Given the description of an element on the screen output the (x, y) to click on. 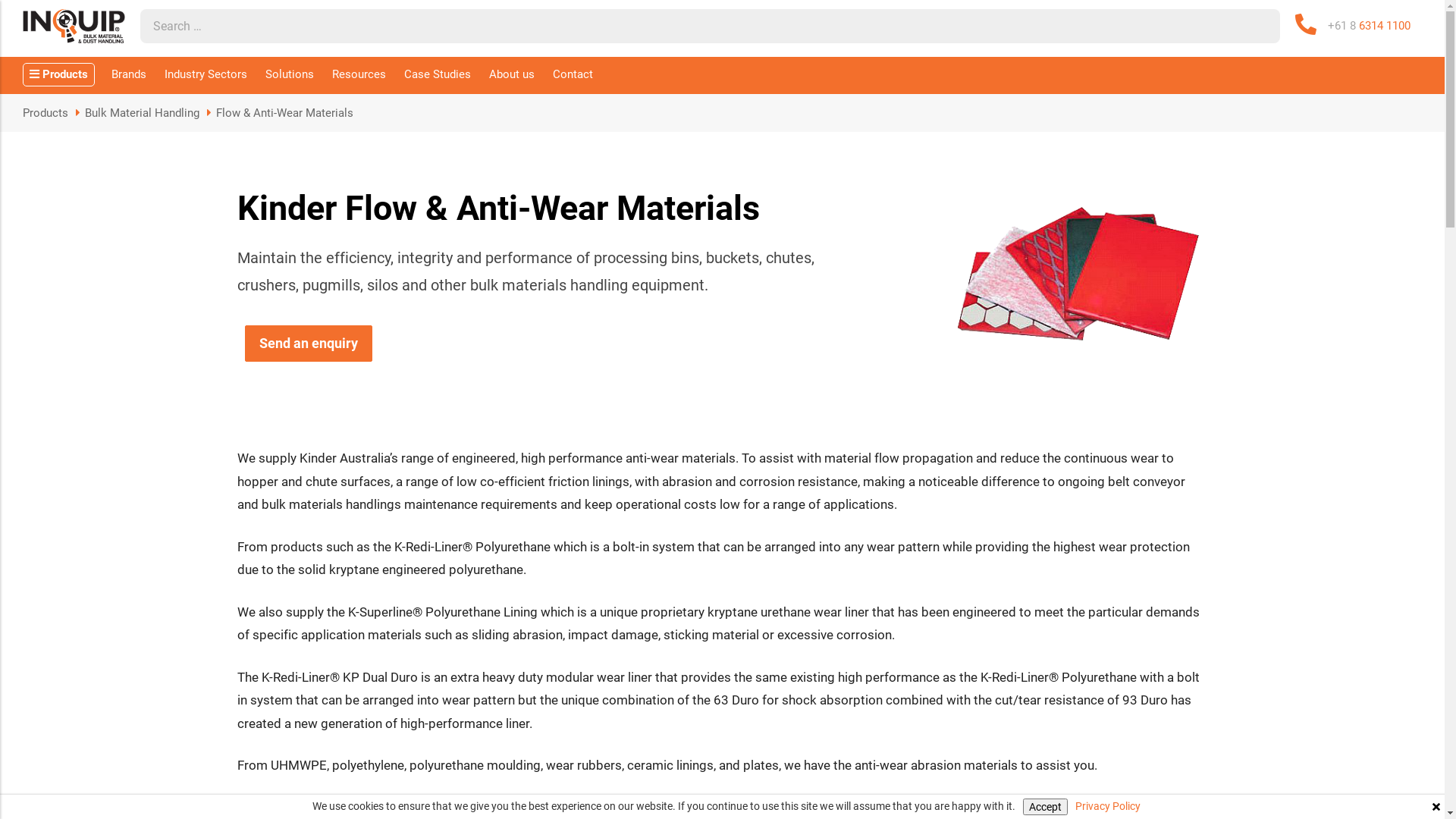
Privacy Policy Element type: text (1107, 806)
Products Element type: text (45, 112)
Industry Sectors Element type: text (205, 75)
Search Element type: text (1263, 25)
Solutions Element type: text (289, 75)
Bulk Material Handling Element type: text (141, 112)
Brands Element type: text (128, 75)
Accept Element type: text (1044, 806)
Case Studies Element type: text (437, 75)
+61 8 6314 1100 Element type: text (1368, 25)
Products Element type: text (58, 74)
Send an enquiry Element type: text (307, 343)
Resources Element type: text (358, 75)
Contact Element type: text (572, 75)
About us Element type: text (511, 75)
